Given the description of an element on the screen output the (x, y) to click on. 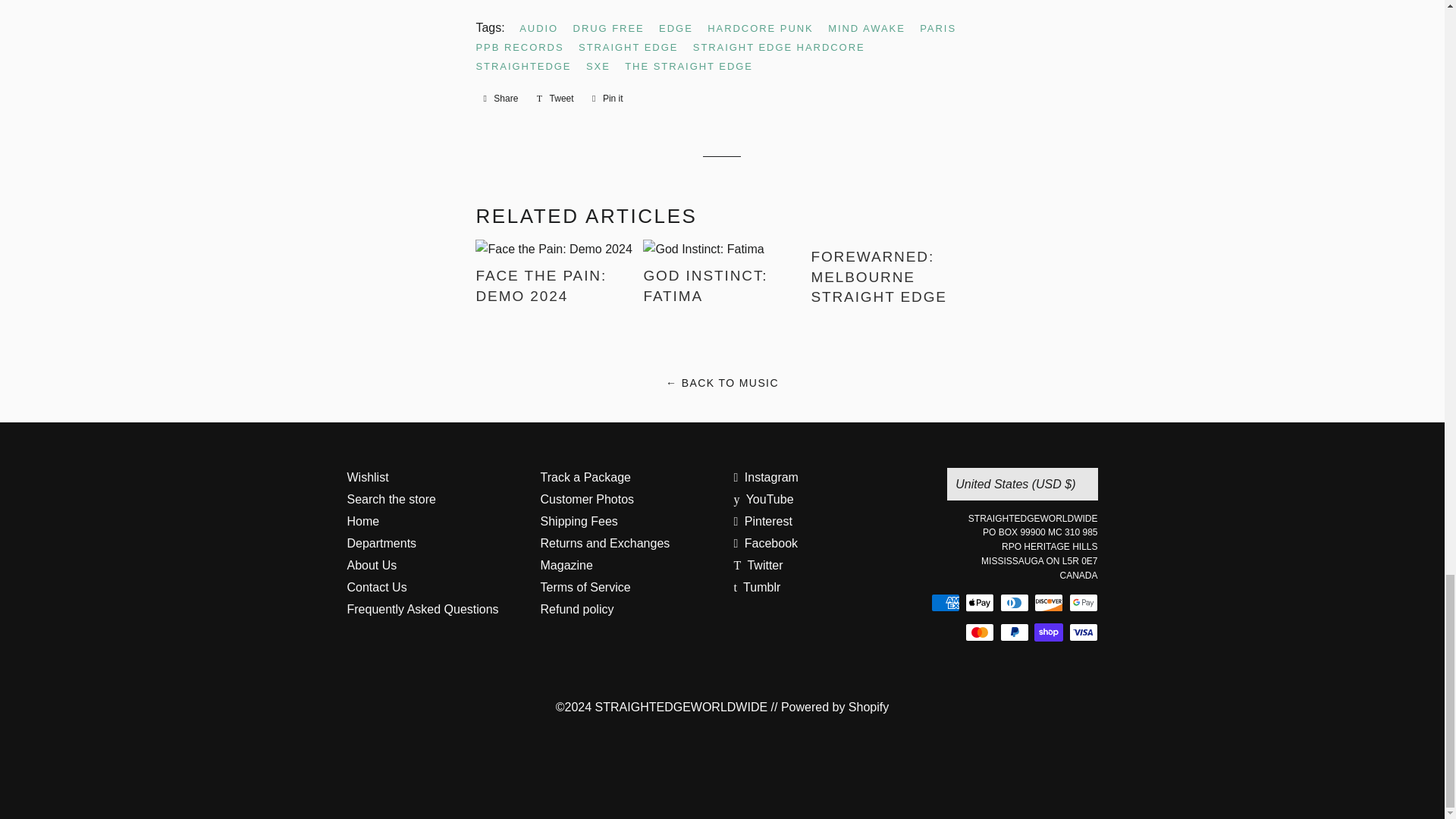
Mastercard (979, 632)
Google Pay (1082, 602)
Diners Club (1012, 602)
Share on Facebook (500, 98)
STRAIGHTEDGEWORLDWIDE on YouTube (763, 499)
American Express (945, 602)
Pin on Pinterest (607, 98)
Discover (1047, 602)
STRAIGHTEDGEWORLDWIDE on Pinterest (762, 521)
STRAIGHTEDGEWORLDWIDE on Tumblr (756, 586)
